Given the description of an element on the screen output the (x, y) to click on. 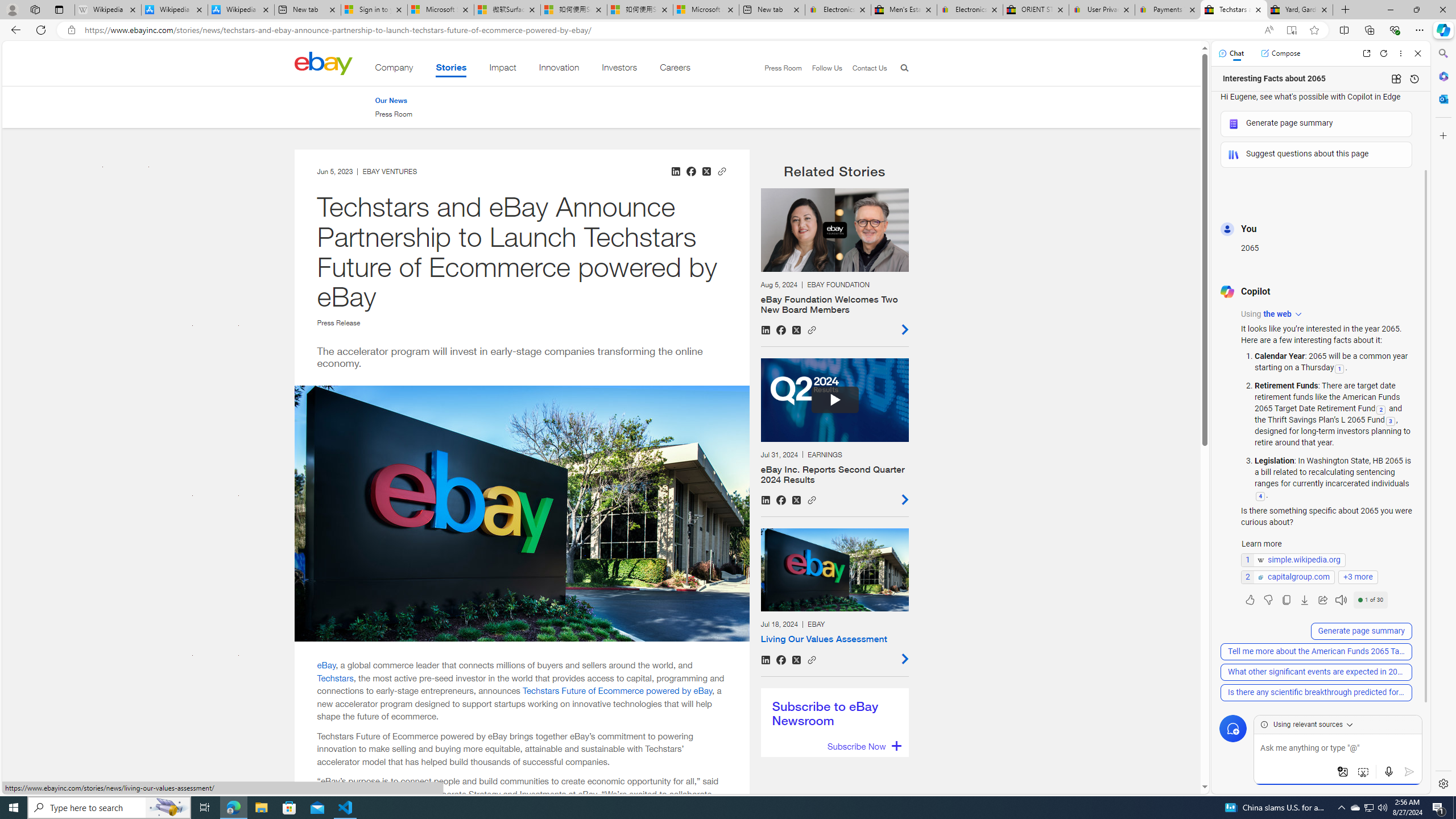
Follow Us (826, 67)
Contact Us (863, 68)
eBay (326, 665)
